Given the description of an element on the screen output the (x, y) to click on. 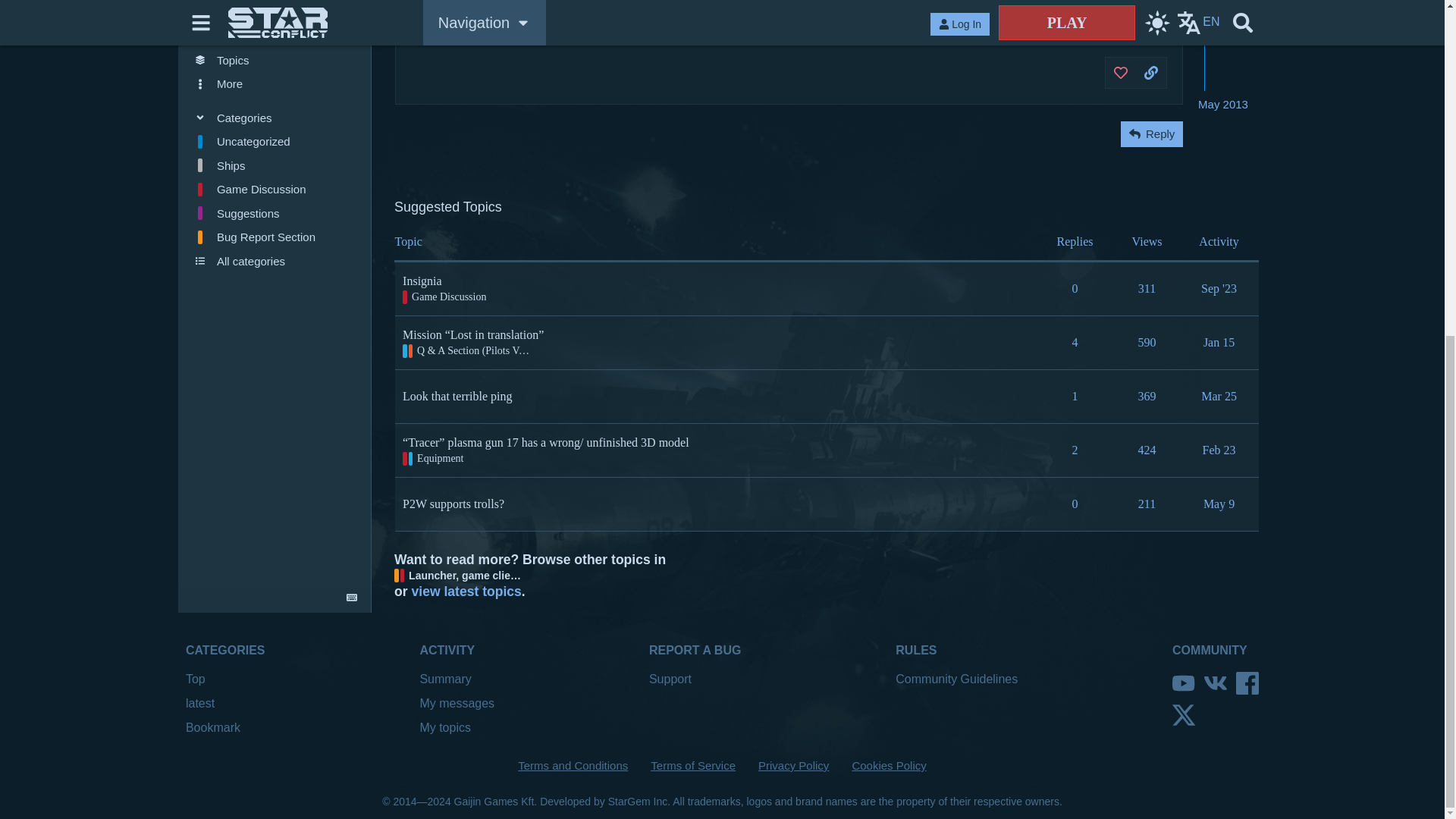
Keyboard Shortcuts (351, 47)
Reply (1151, 134)
